Given the description of an element on the screen output the (x, y) to click on. 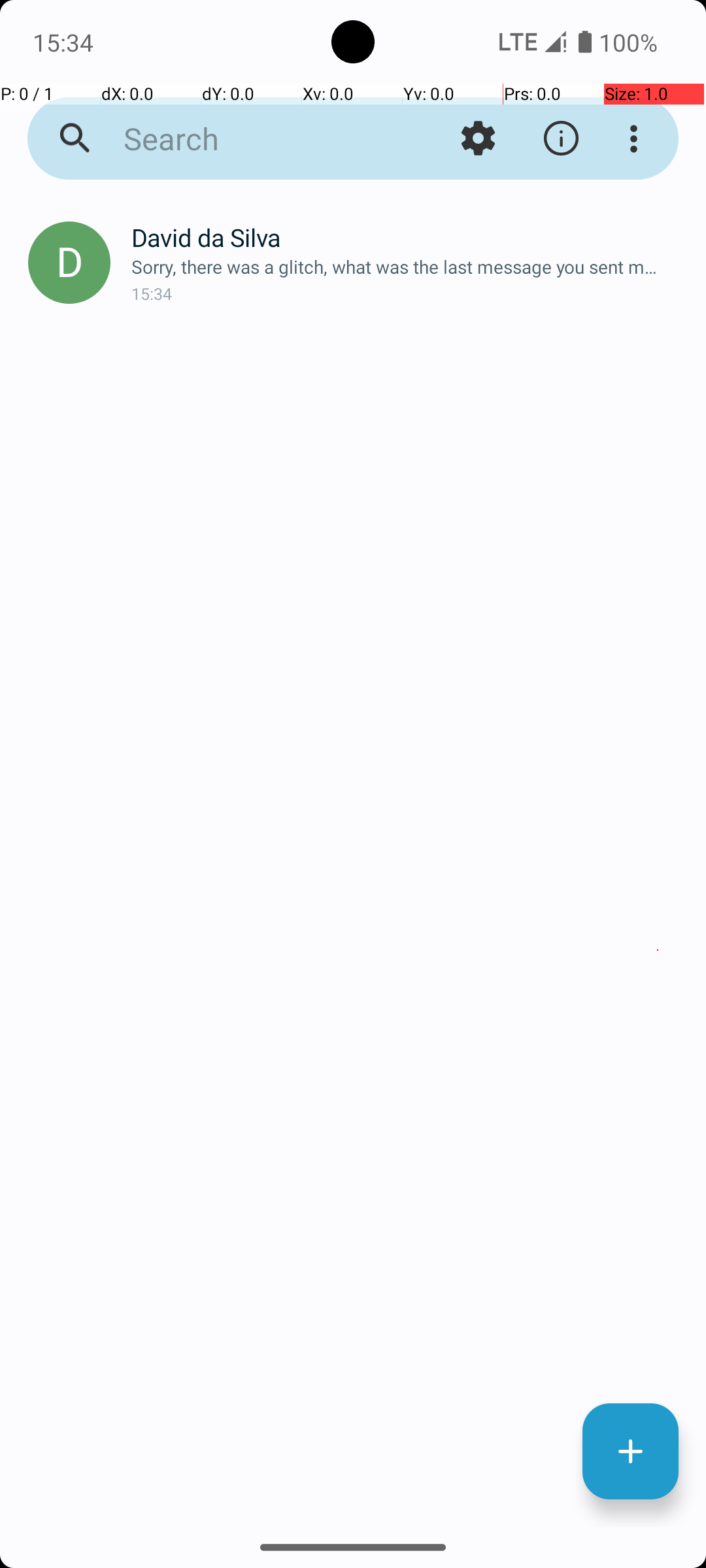
David da Silva Element type: android.widget.TextView (408, 237)
